Given the description of an element on the screen output the (x, y) to click on. 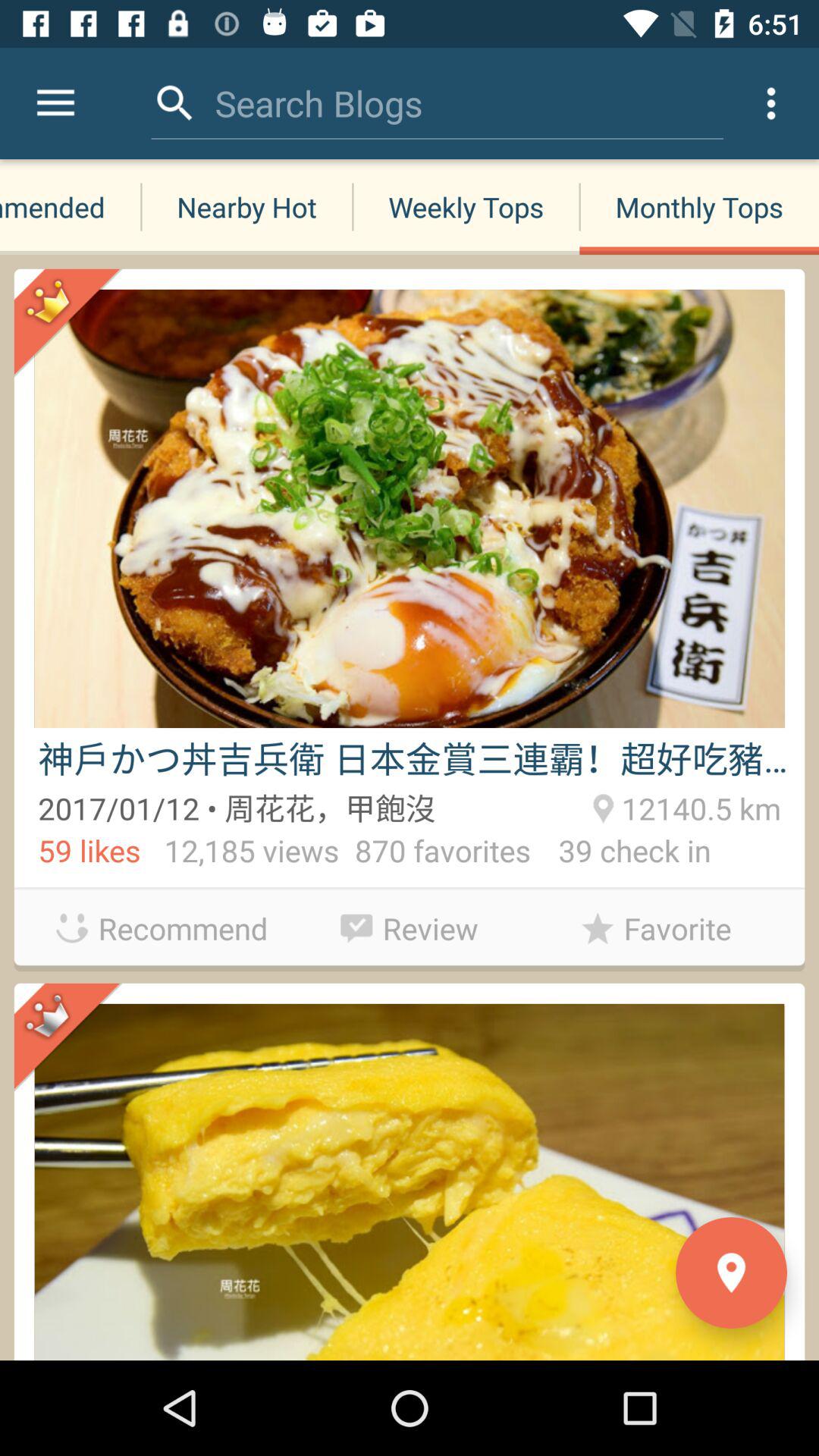
launch the icon above 39 check in (698, 806)
